Given the description of an element on the screen output the (x, y) to click on. 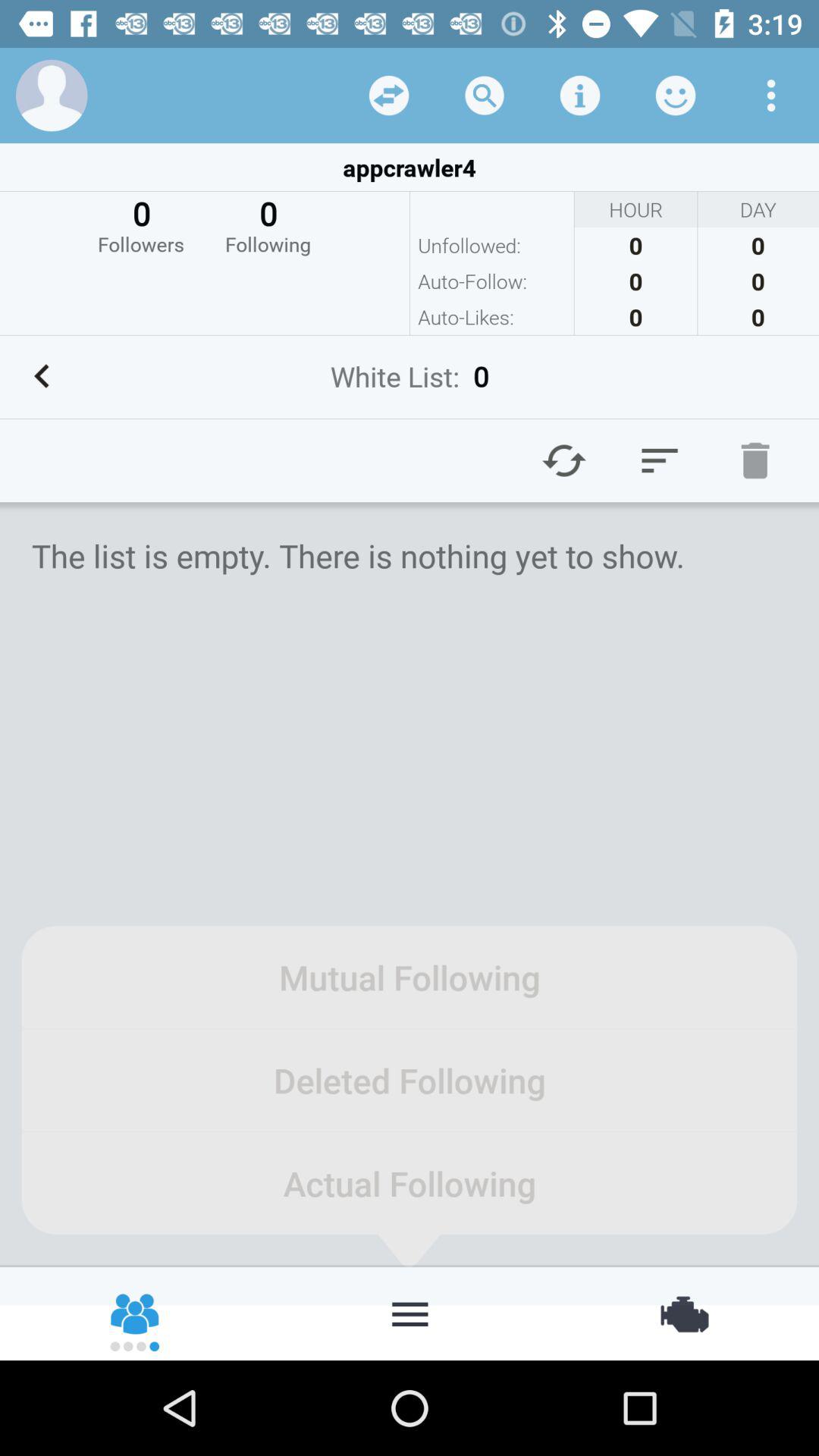
go to refresh (563, 460)
